Given the description of an element on the screen output the (x, y) to click on. 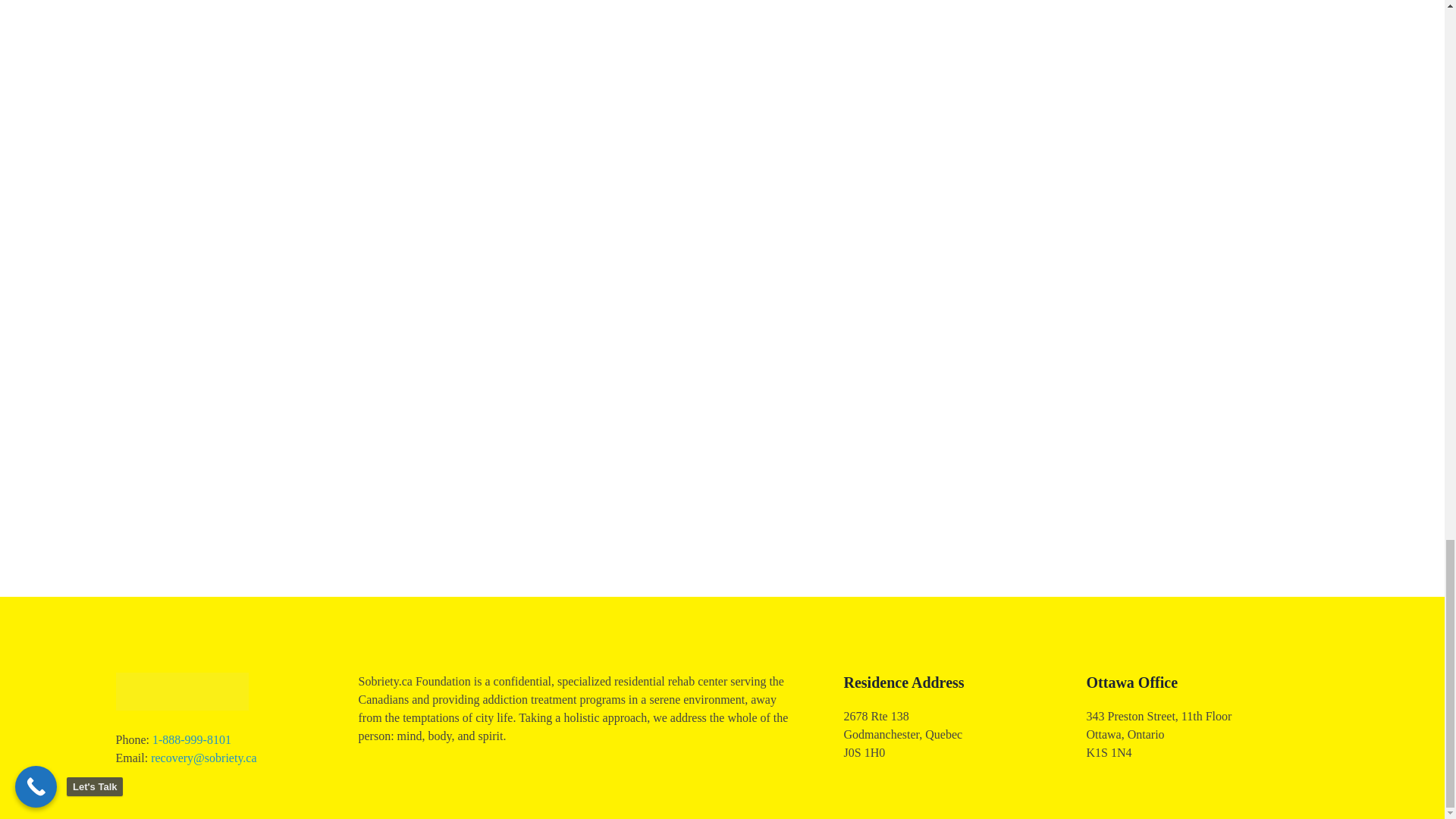
Sobriety.ca Foundation (181, 691)
1-888-999-8101 (191, 739)
Sobriety.ca Foundation (215, 719)
Sobriety.ca Foundation (215, 719)
